Given the description of an element on the screen output the (x, y) to click on. 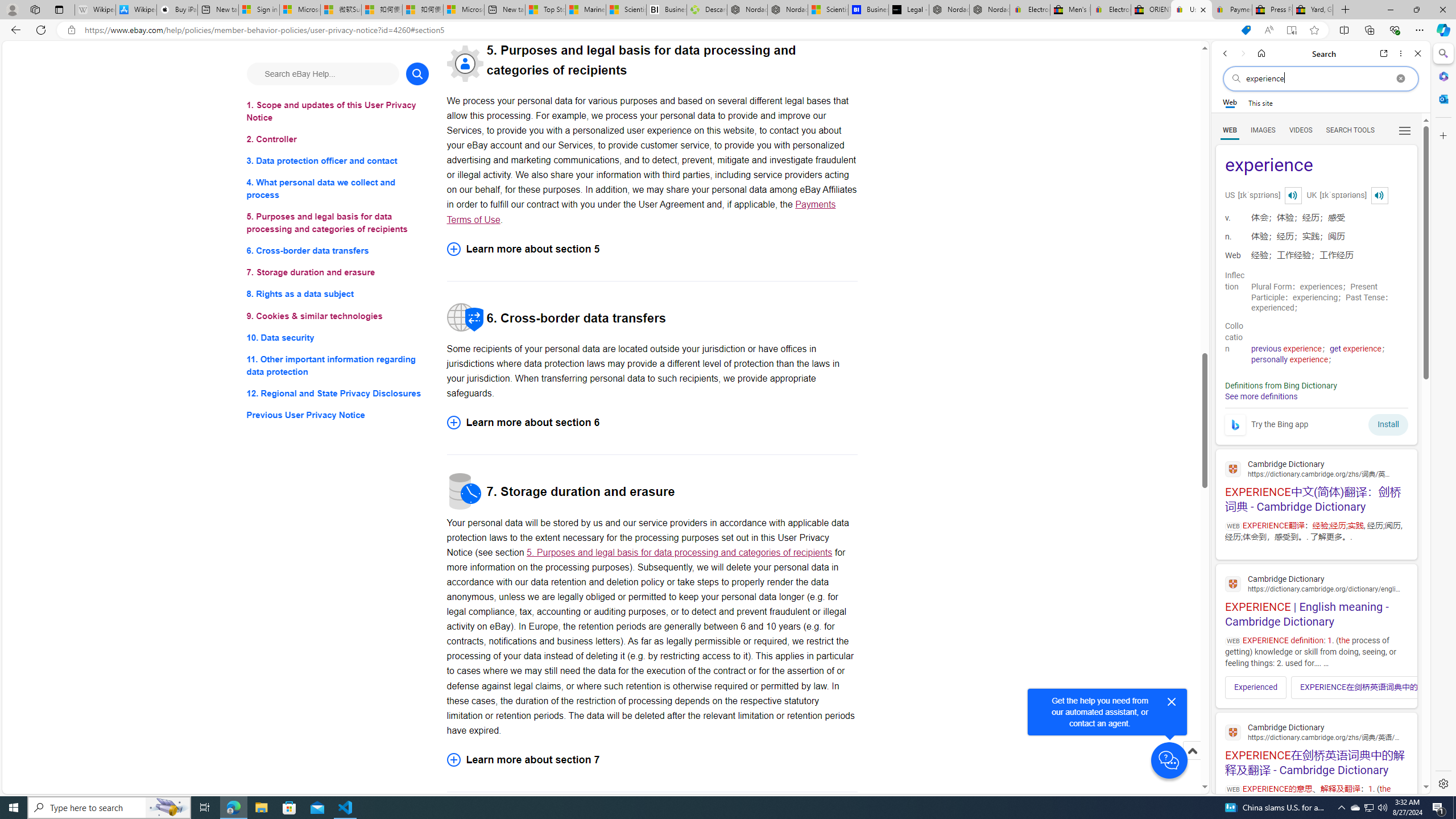
9. Cookies & similar technologies (337, 315)
7. Storage duration and erasure (337, 272)
experience (1315, 165)
2. Controller (337, 138)
